Given the description of an element on the screen output the (x, y) to click on. 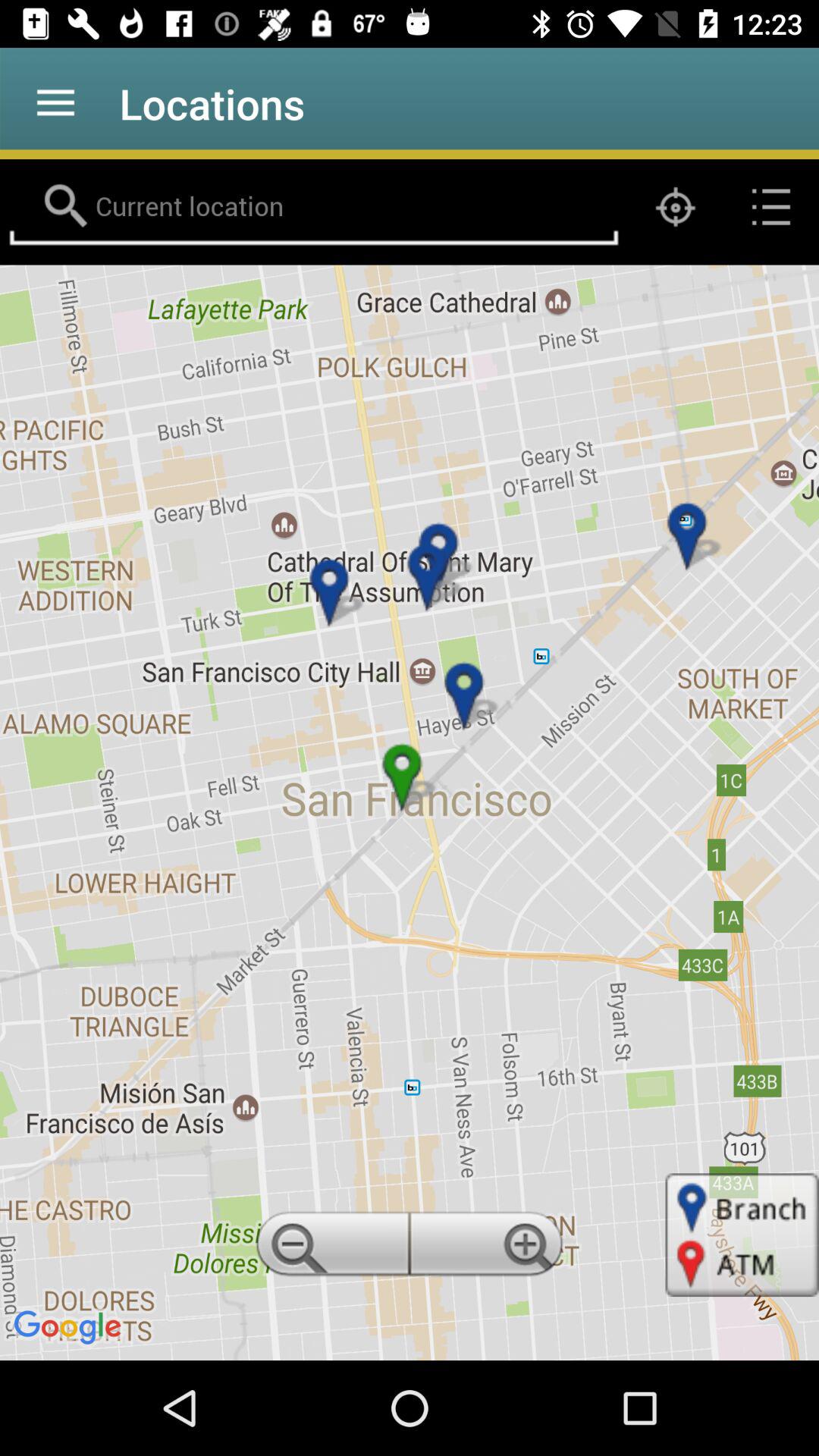
search location (313, 206)
